Given the description of an element on the screen output the (x, y) to click on. 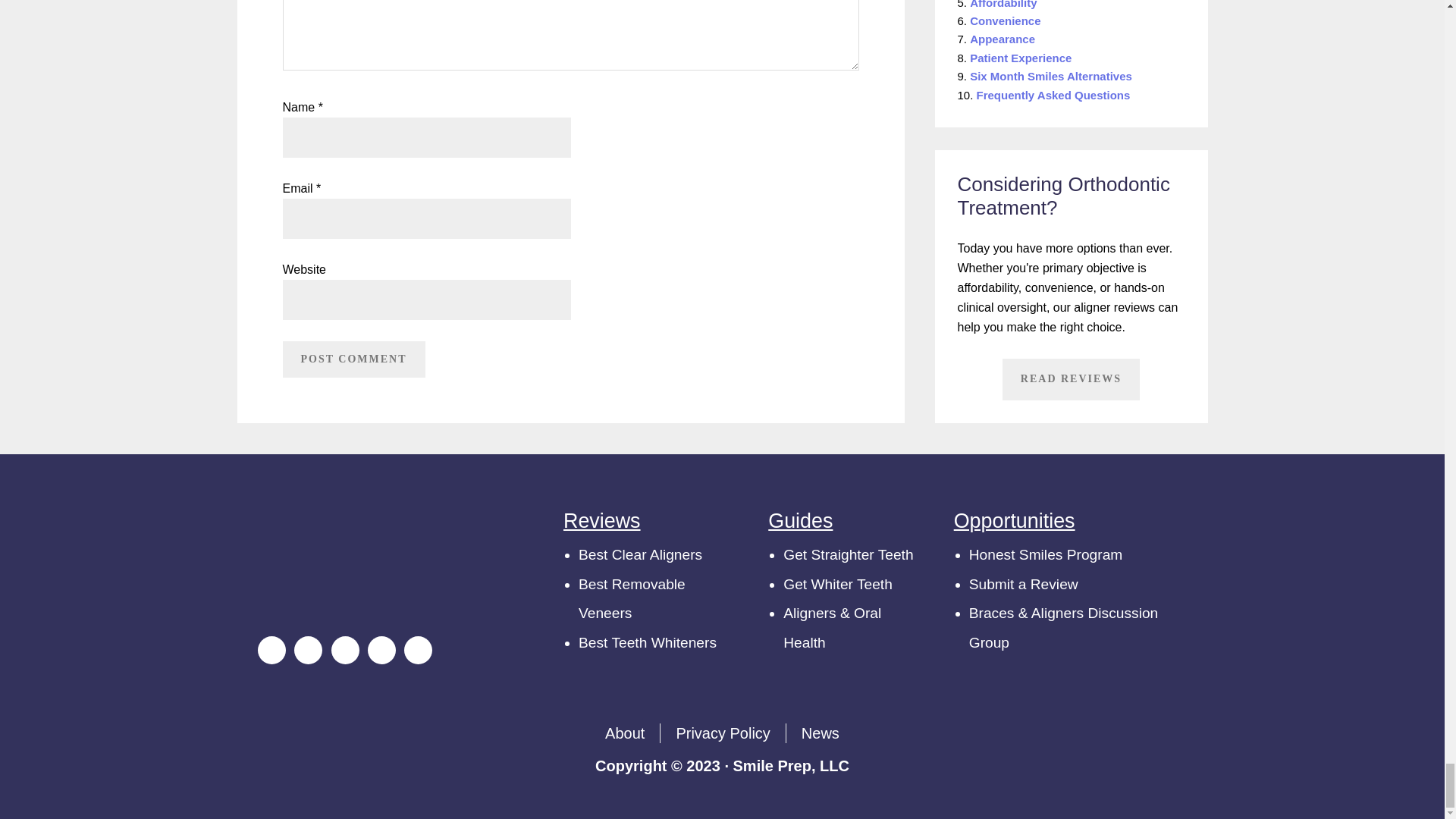
Best Clear Aligners (639, 554)
Best Teeth Whiteners (647, 641)
Post Comment (353, 359)
Get Whiter Teeth (837, 584)
Get Straighter Teeth (847, 554)
Submit a Review (1023, 584)
Best Removable Veneers (631, 598)
Honest Smiles Program (1045, 554)
